Given the description of an element on the screen output the (x, y) to click on. 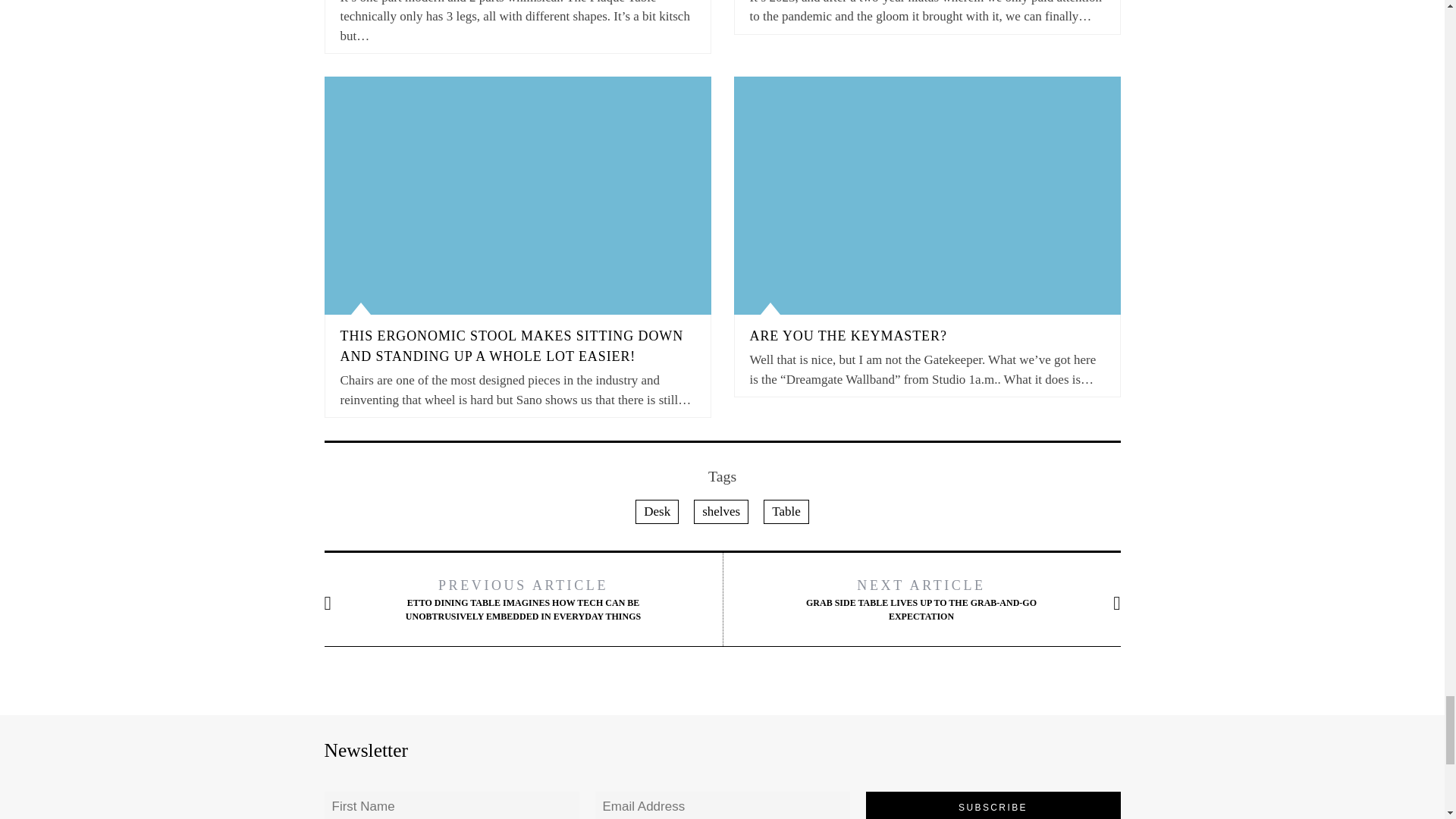
Subscribe (993, 805)
